Given the description of an element on the screen output the (x, y) to click on. 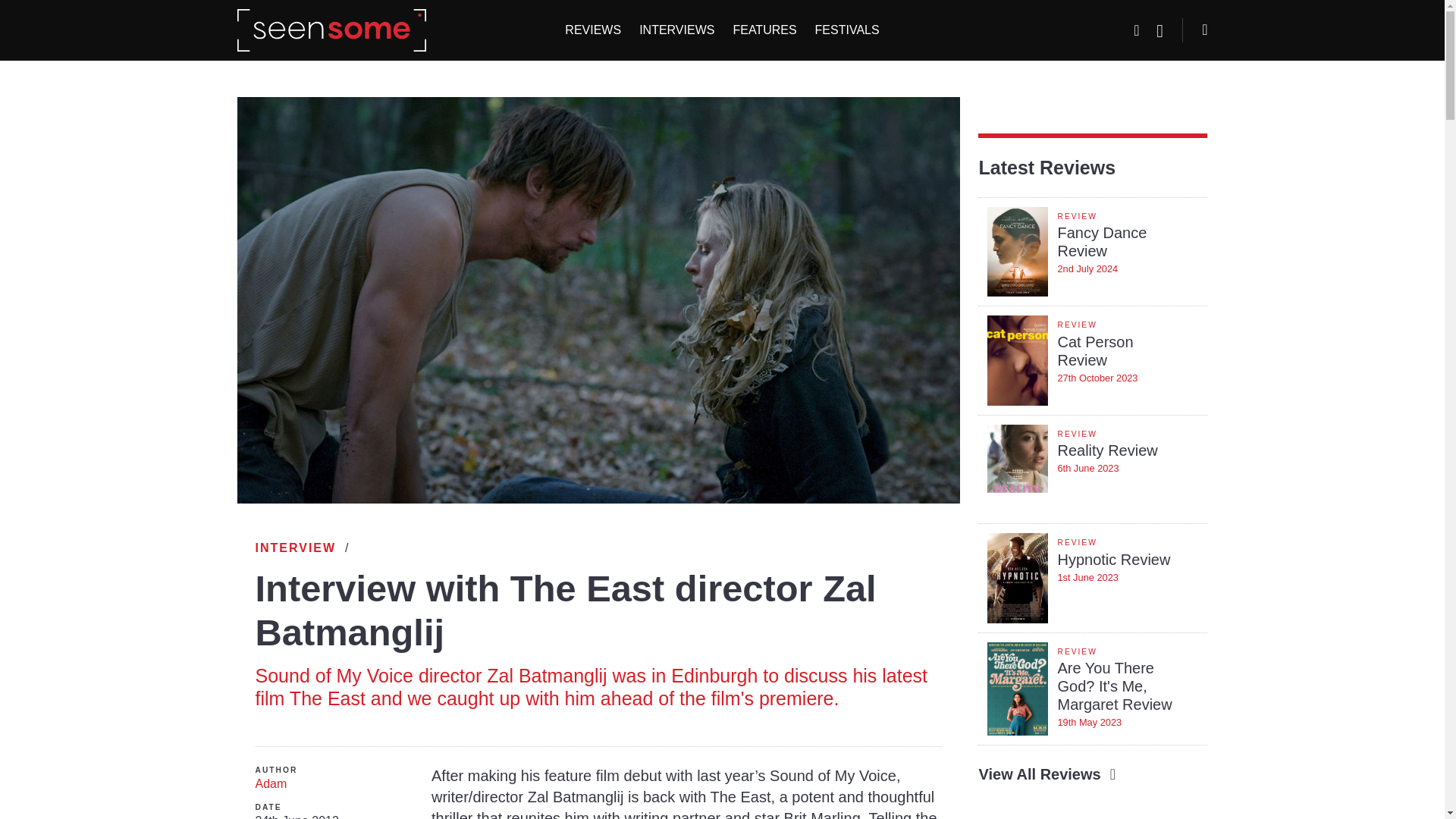
FEATURES (1092, 251)
INTERVIEWS (1092, 578)
Adam (764, 30)
INTERVIEW (676, 30)
FESTIVALS (333, 783)
Search for: (299, 547)
